Given the description of an element on the screen output the (x, y) to click on. 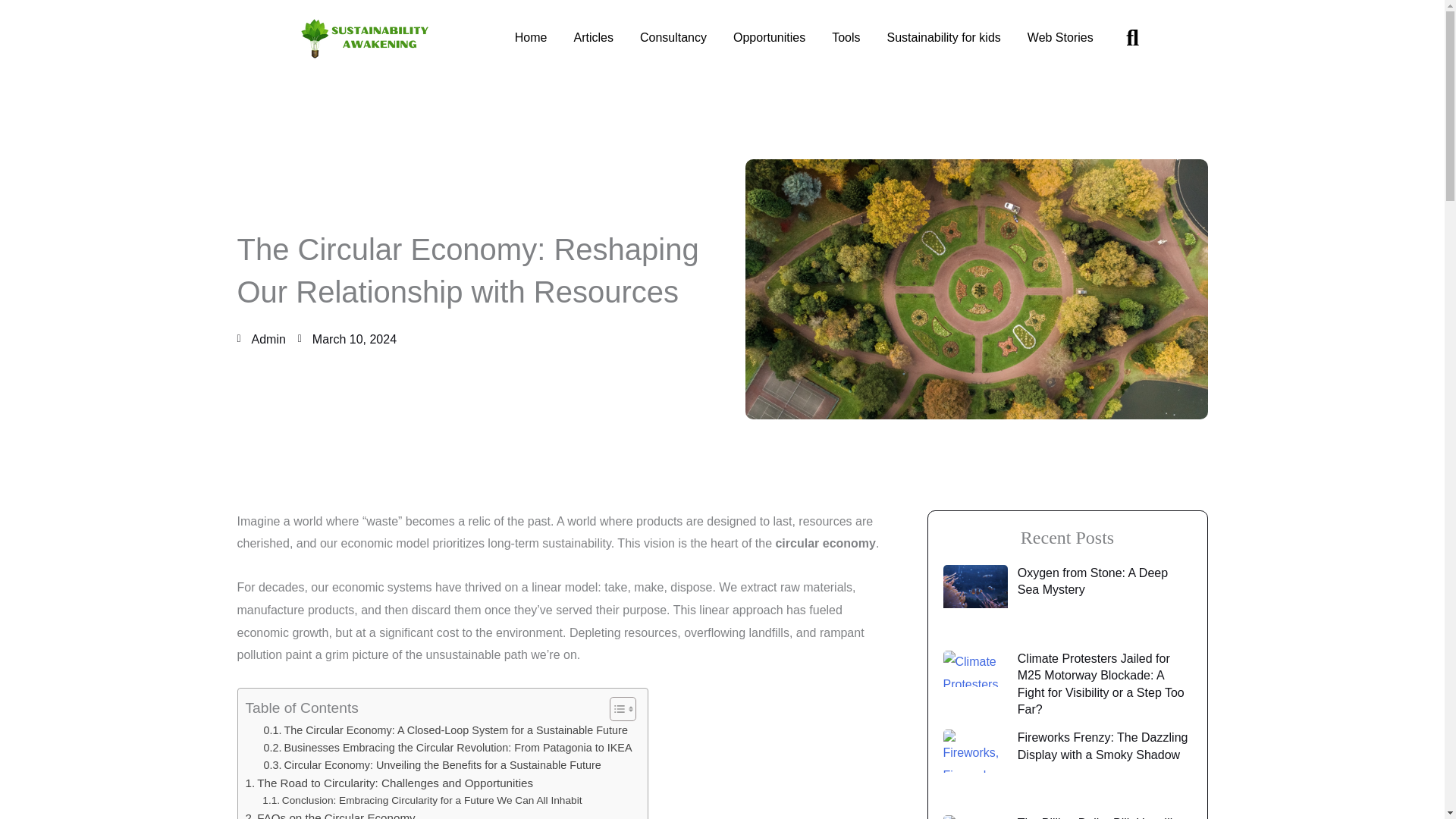
Opportunities (768, 37)
Sustainability for kids (944, 37)
FAQs on the Circular Economy (330, 814)
The Road to Circularity: Challenges and Opportunities (390, 782)
FAQs on the Circular Economy (330, 814)
Articles (593, 37)
Home (530, 37)
